Given the description of an element on the screen output the (x, y) to click on. 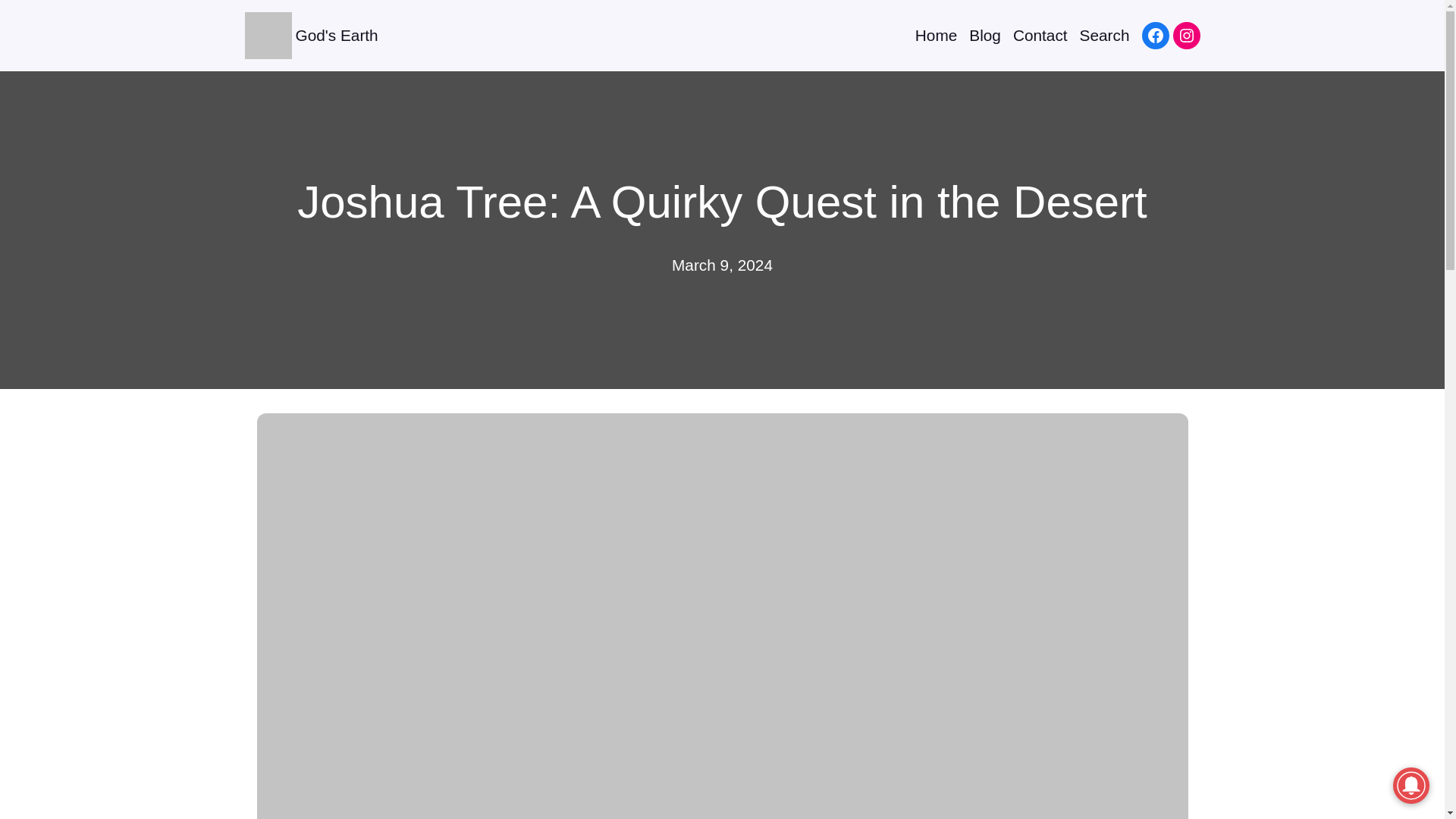
Home (935, 35)
Contact (1040, 35)
Facebook (1155, 35)
Blog (985, 35)
God's Earth (336, 35)
Search (1104, 35)
Instagram (1185, 35)
